Given the description of an element on the screen output the (x, y) to click on. 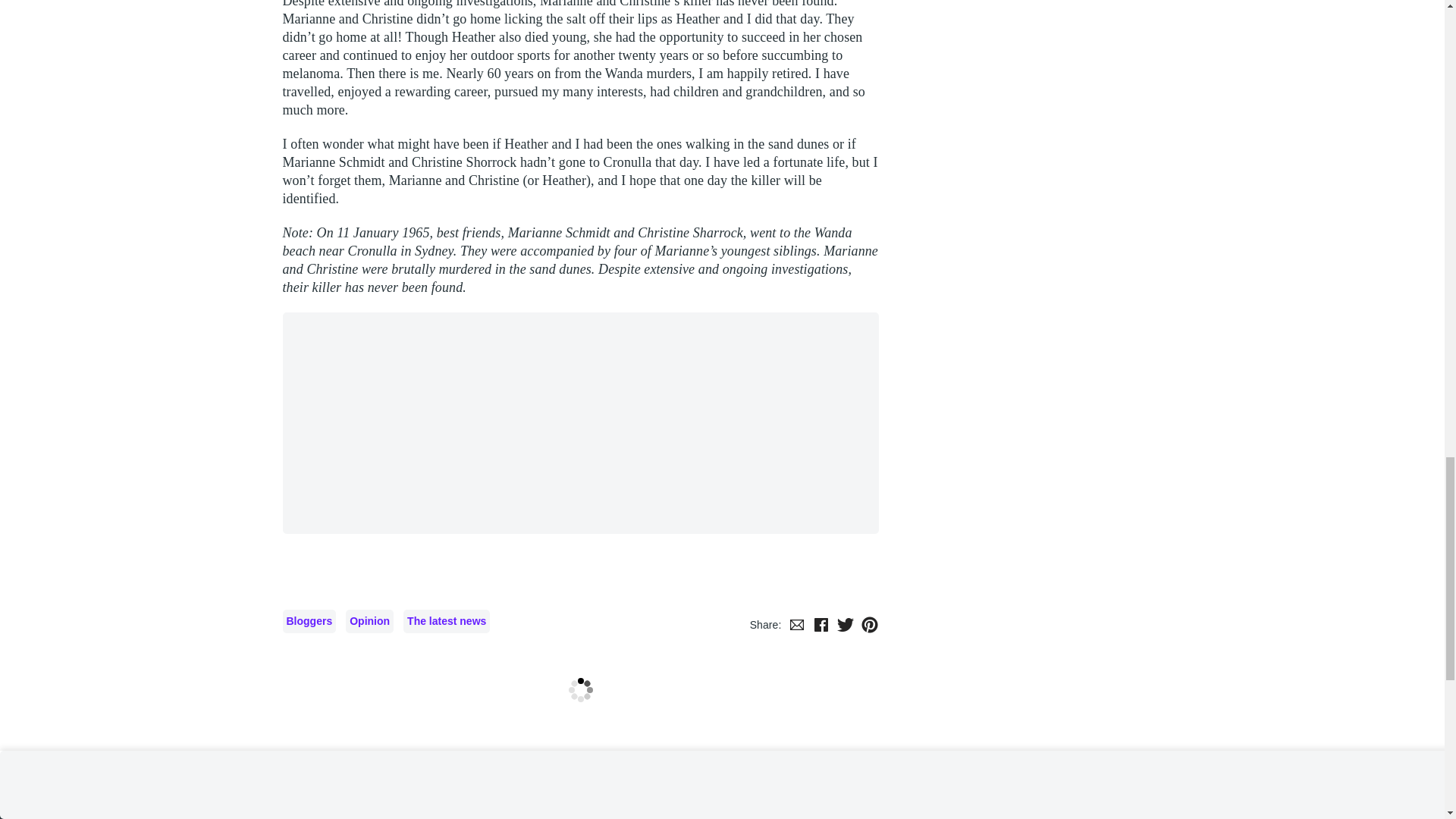
Share via email (796, 694)
The latest news (446, 690)
Share on Facebook (819, 694)
Share on Pinterest (868, 694)
Opinion (369, 690)
Bloggers (309, 690)
Share on Twitter (844, 694)
